Given the description of an element on the screen output the (x, y) to click on. 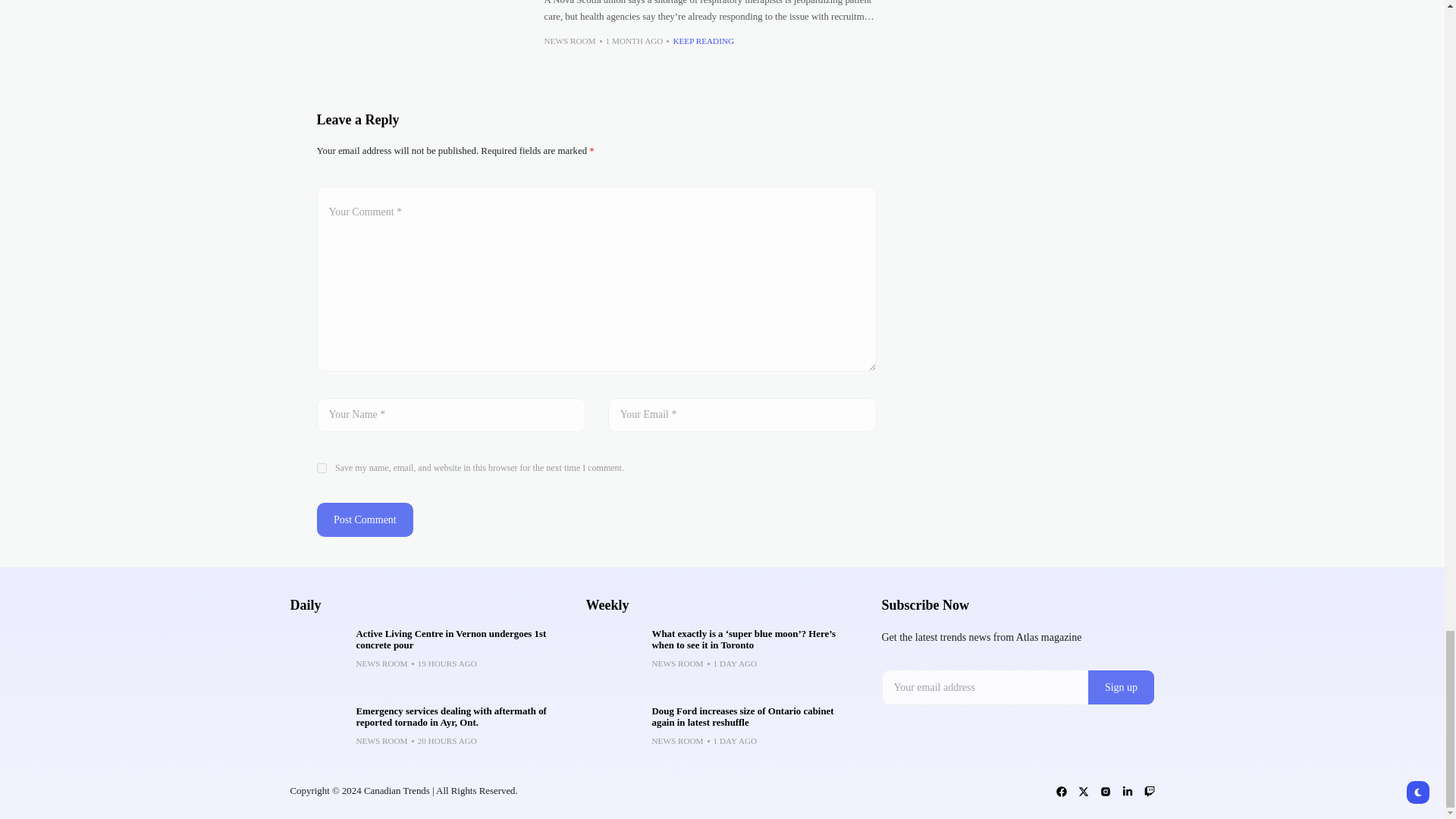
Sign up (1120, 687)
Post Comment (365, 519)
yes (321, 468)
